Given the description of an element on the screen output the (x, y) to click on. 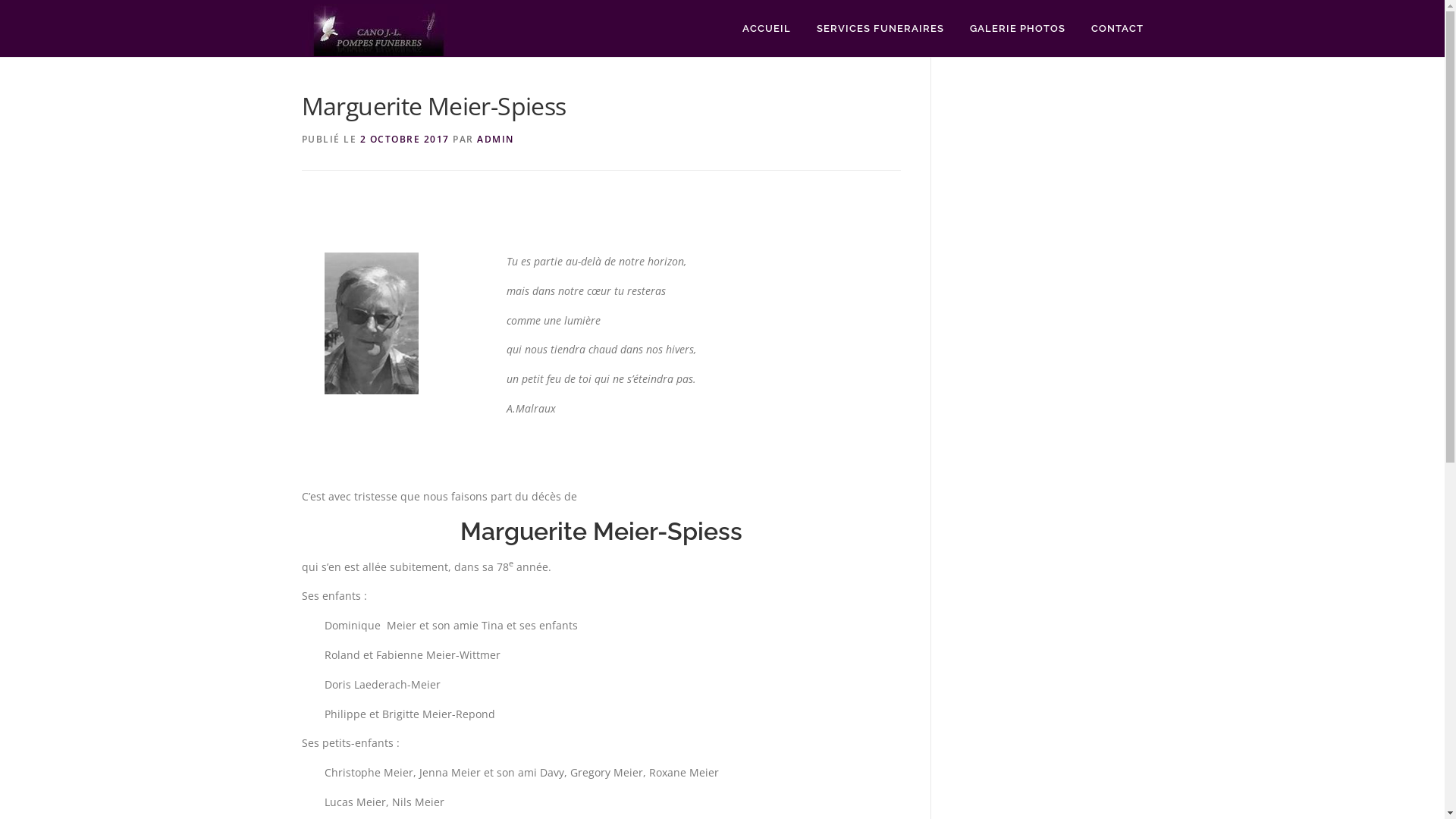
SERVICES FUNERAIRES Element type: text (880, 28)
ADMIN Element type: text (495, 138)
CONTACT Element type: text (1110, 28)
ACCUEIL Element type: text (766, 28)
GALERIE PHOTOS Element type: text (1017, 28)
2 OCTOBRE 2017 Element type: text (403, 138)
